Given the description of an element on the screen output the (x, y) to click on. 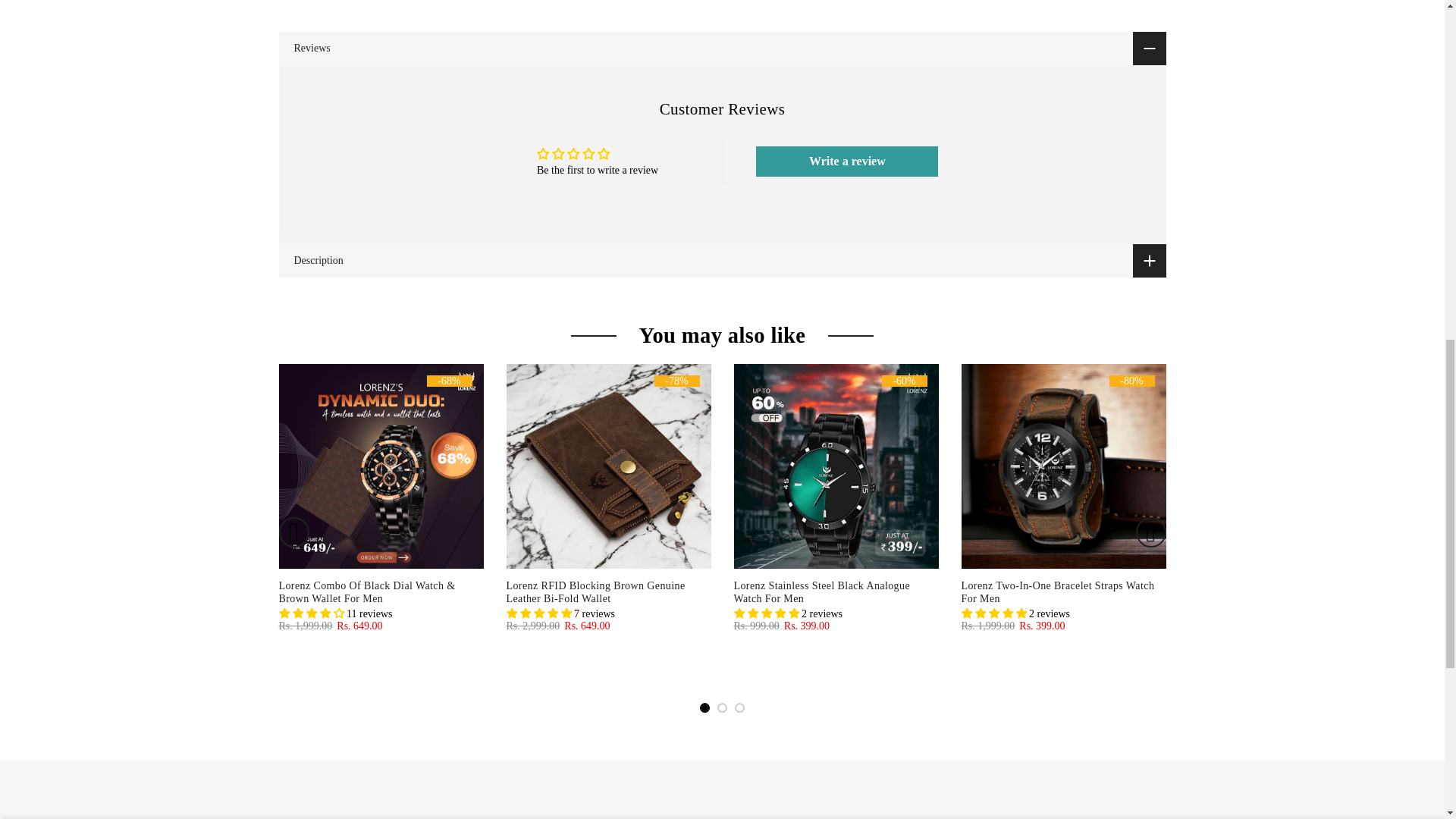
1 (1001, 35)
